Given the description of an element on the screen output the (x, y) to click on. 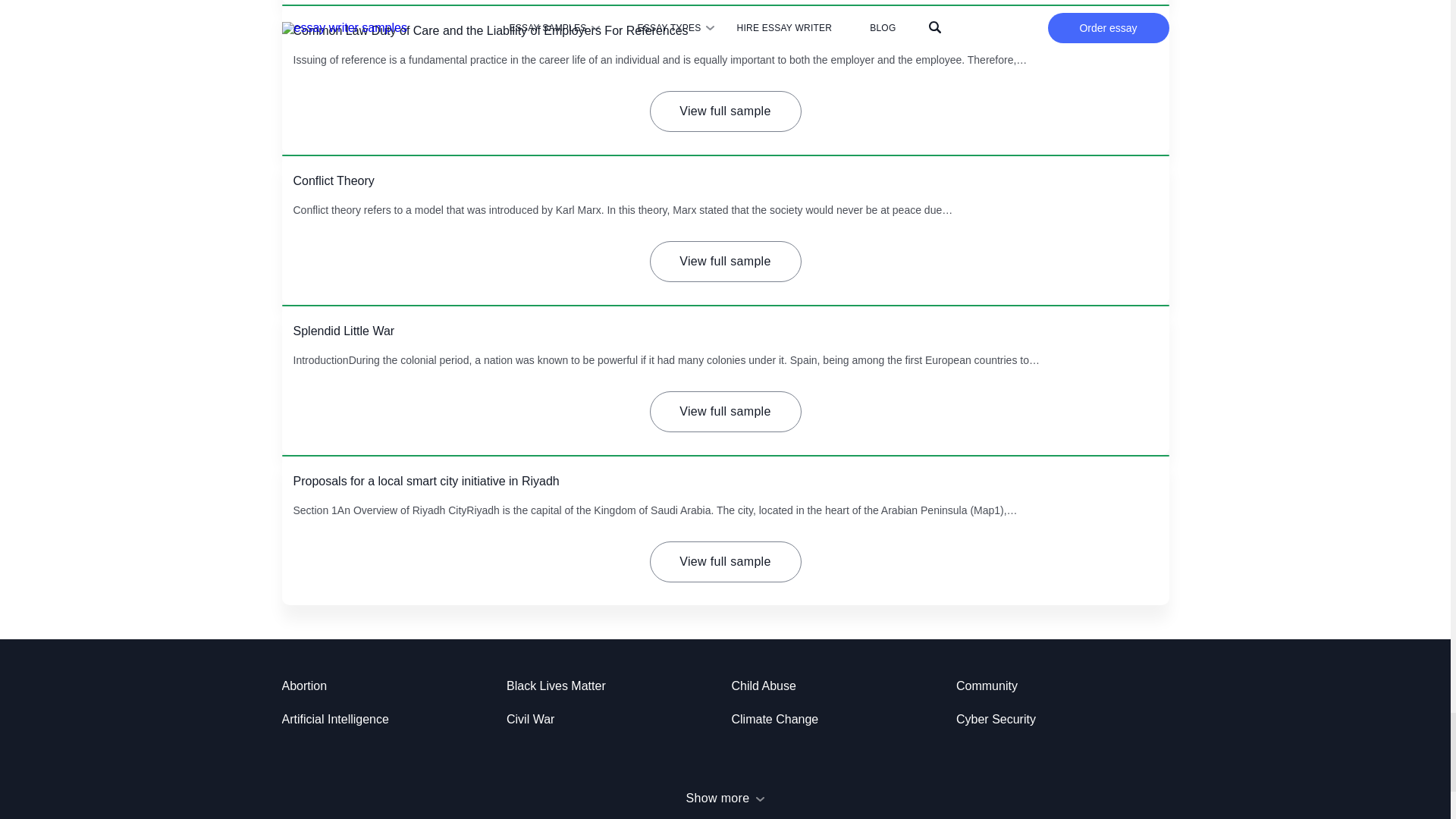
Proposals for a local smart city initiative in Riyadh (425, 481)
Conflict Theory (333, 180)
Splendid Little War (343, 330)
